Given the description of an element on the screen output the (x, y) to click on. 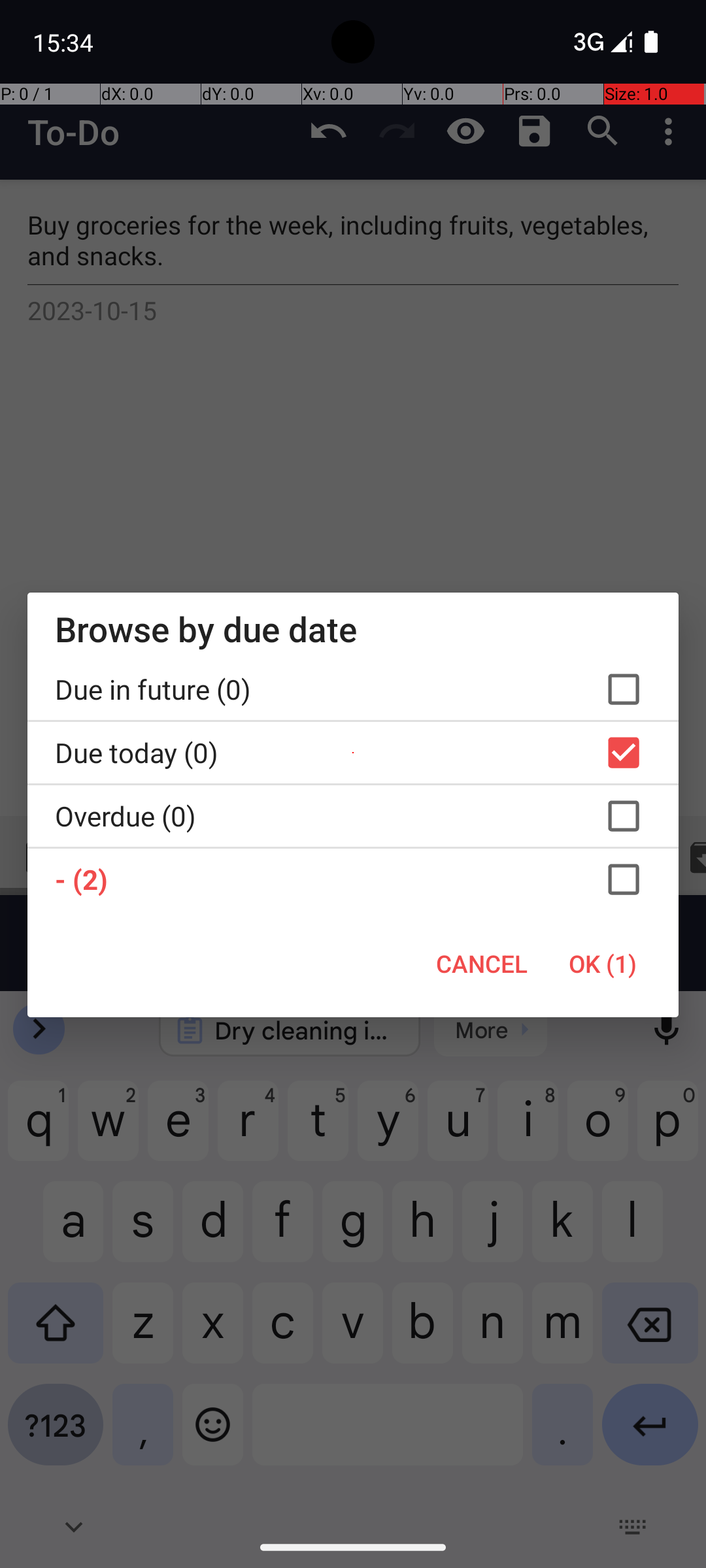
Browse by due date Element type: android.widget.TextView (352, 628)
Due in future (0) Element type: android.widget.CheckedTextView (352, 688)
Due today (0) Element type: android.widget.CheckedTextView (352, 752)
Overdue (0) Element type: android.widget.CheckedTextView (352, 815)
- (2) Element type: android.widget.CheckedTextView (352, 879)
OK (1) Element type: android.widget.Button (602, 963)
